Given the description of an element on the screen output the (x, y) to click on. 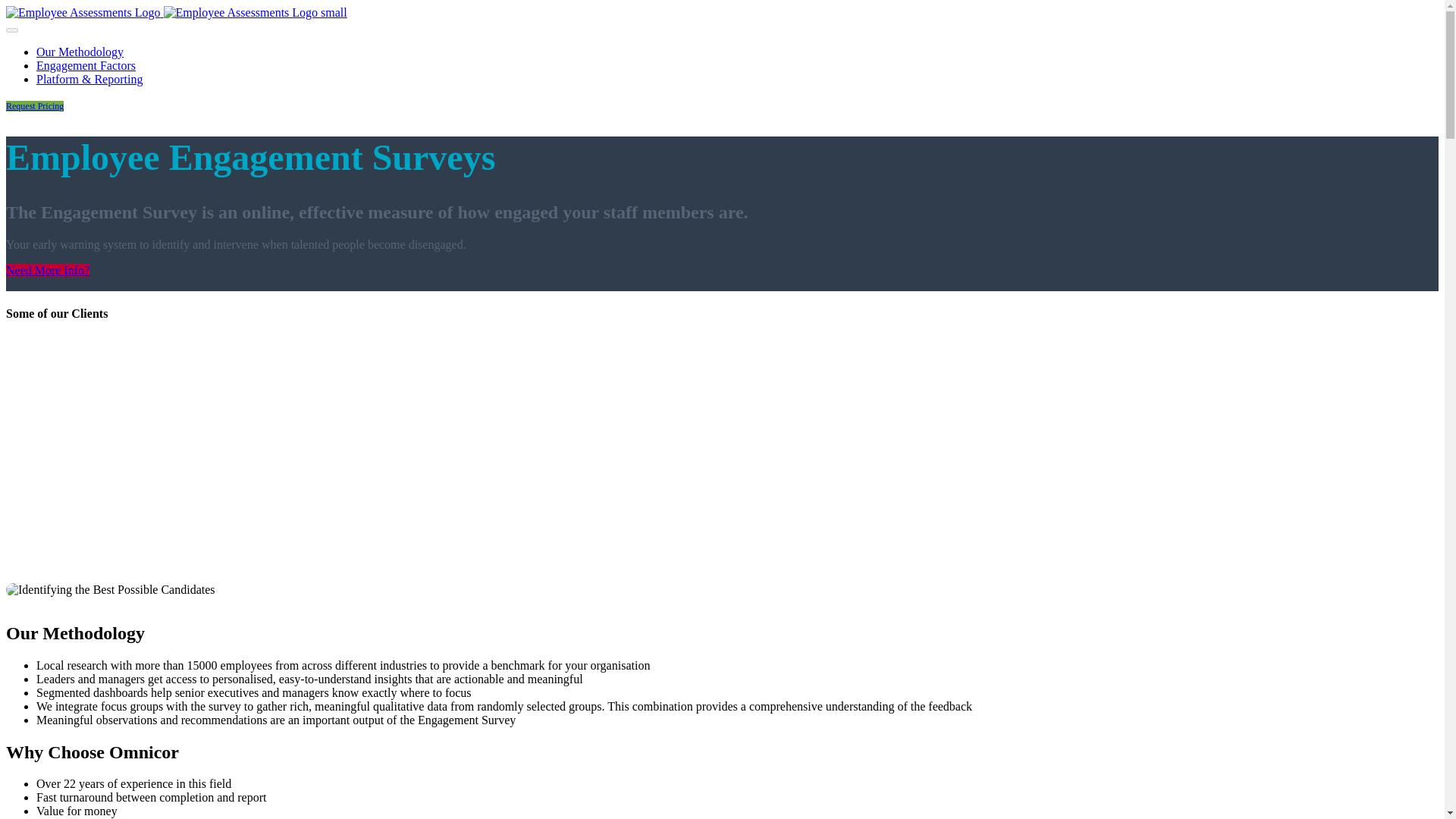
Need More Info? (46, 269)
Request Pricing (34, 105)
Engagement Factors (85, 65)
Our Methodology (79, 51)
